Given the description of an element on the screen output the (x, y) to click on. 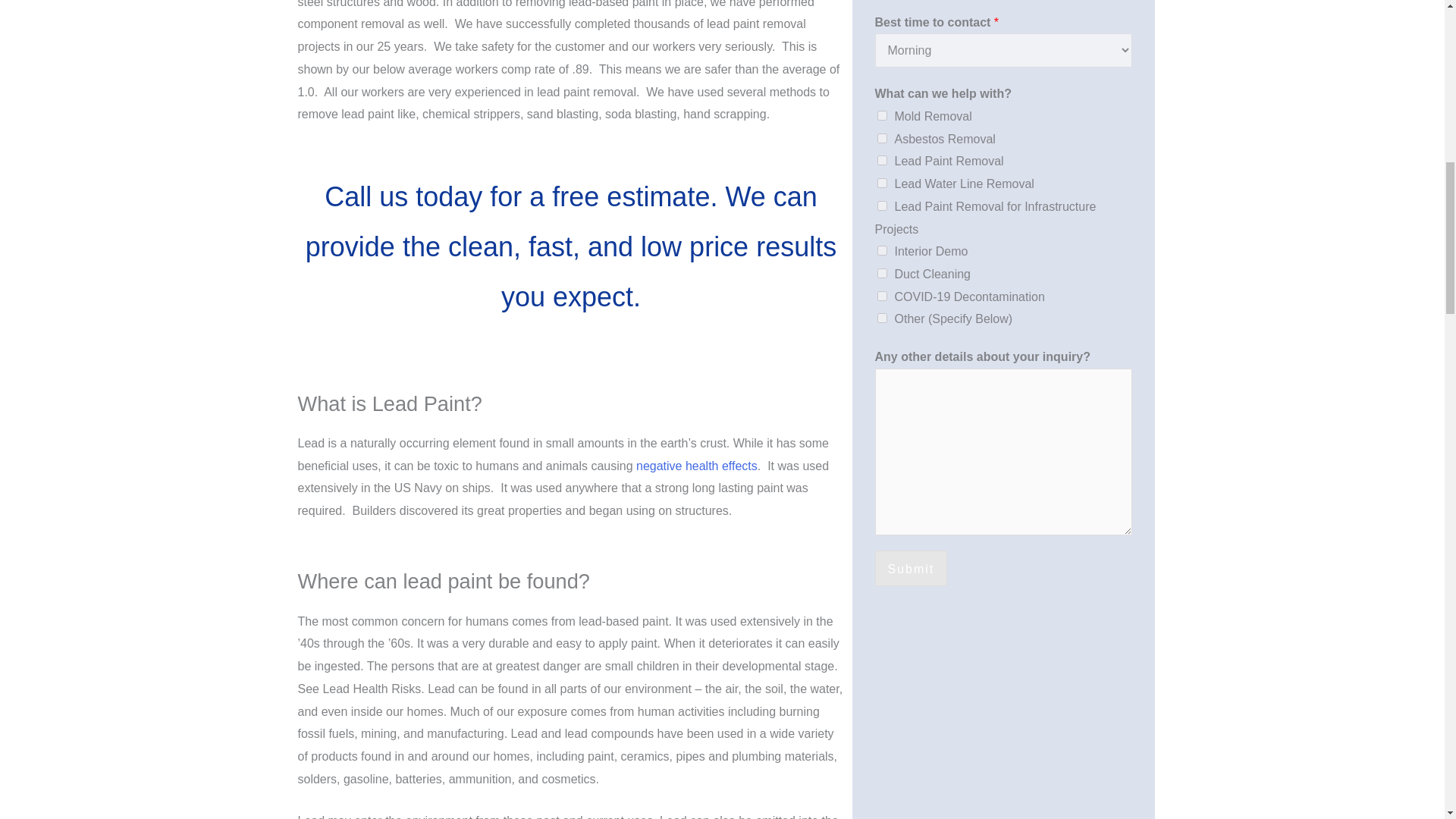
Lead Water Line Removal (881, 183)
Lead Paint Removal (881, 160)
Lead Paint Removal for Infrastructure Projects (881, 205)
Duct Cleaning (881, 273)
Interior Demo (881, 250)
COVID-19 Decontamination (881, 296)
Asbestos Removal (881, 138)
Mold Removal (881, 115)
